Given the description of an element on the screen output the (x, y) to click on. 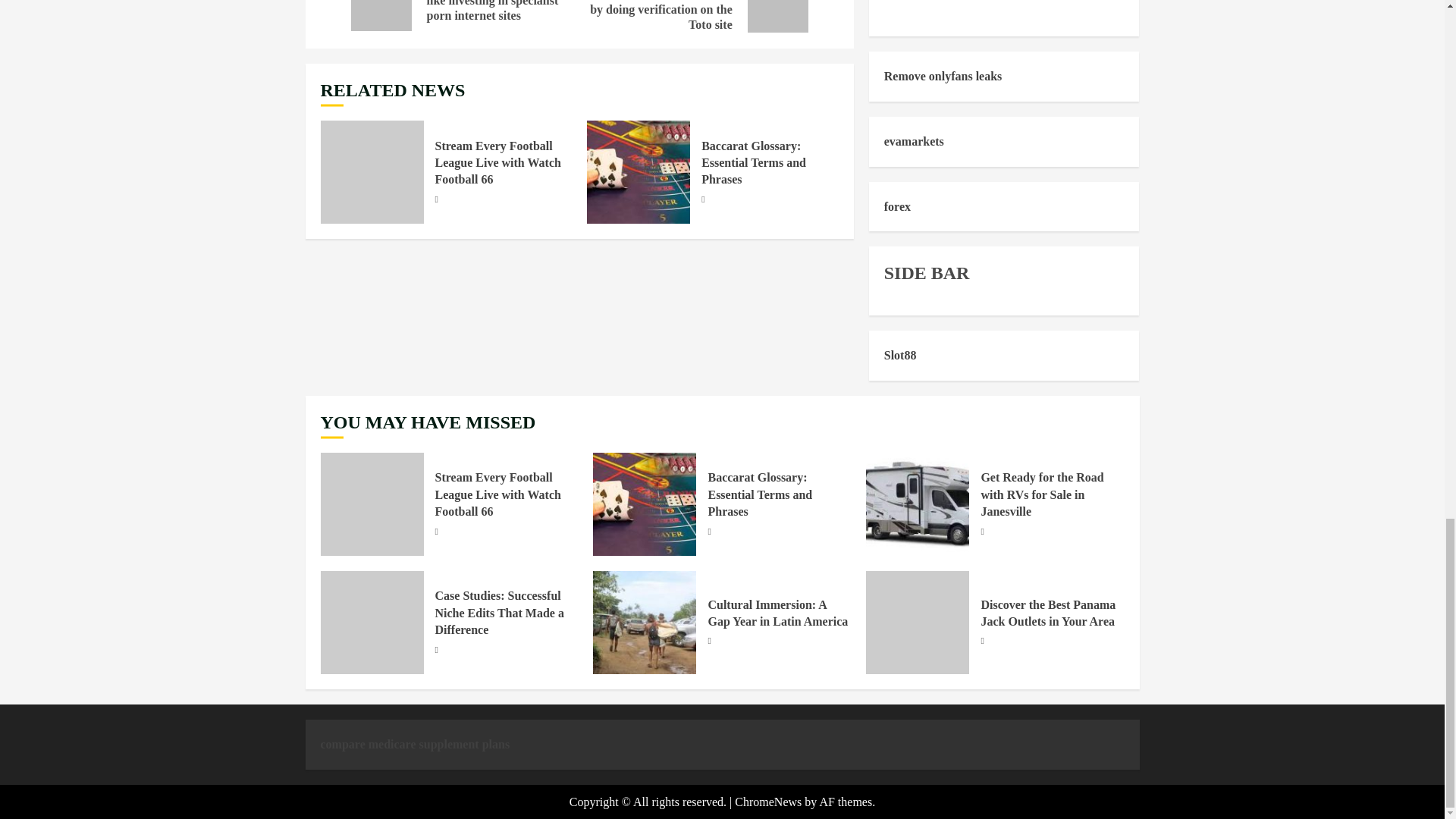
Stream Every Football League Live with Watch Football 66 (371, 171)
Baccarat Glossary: Essential Terms and Phrases (753, 163)
Stream Every Football League Live with Watch Football 66 (497, 163)
Baccarat Glossary: Essential Terms and Phrases (638, 171)
